Given the description of an element on the screen output the (x, y) to click on. 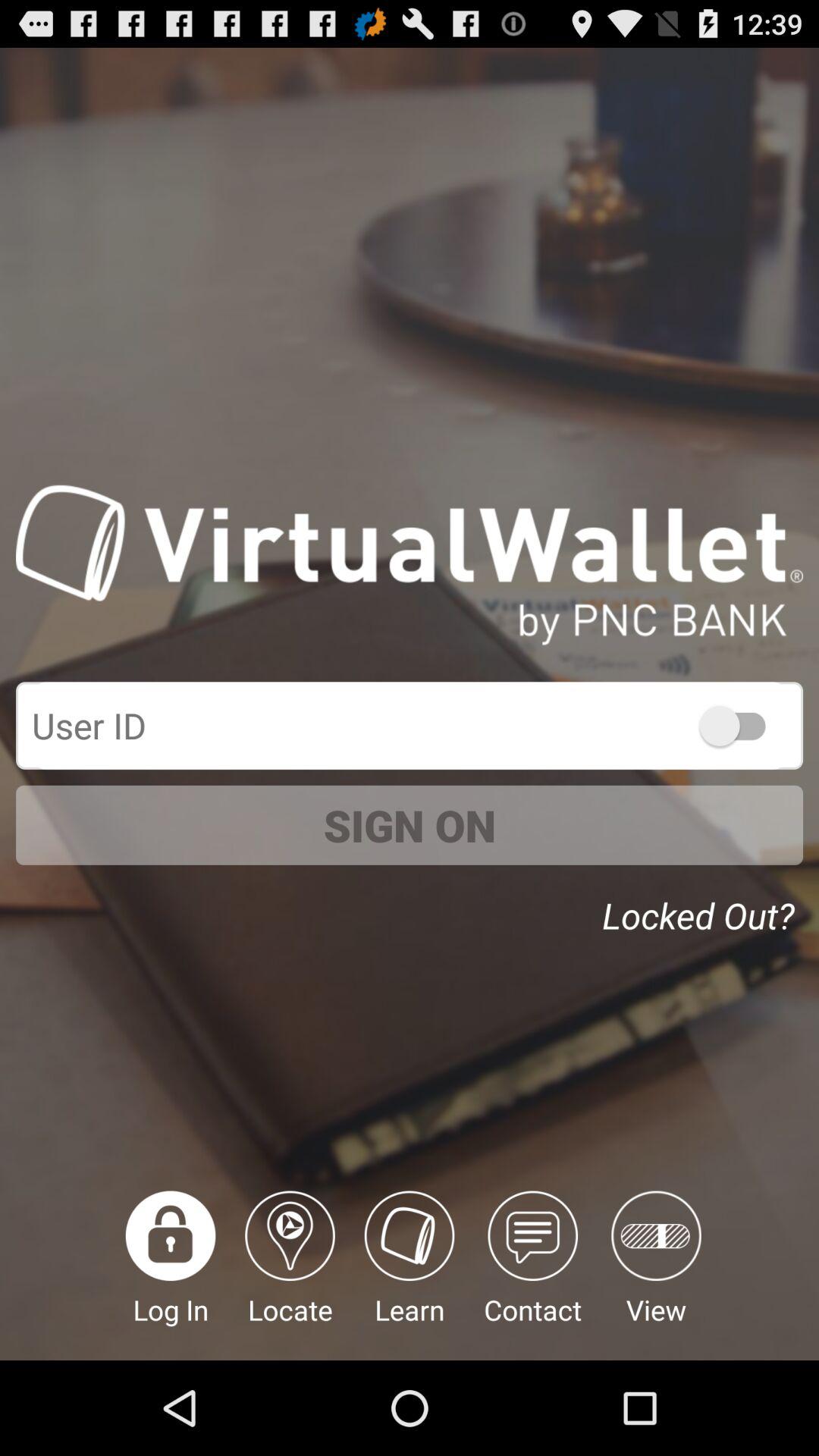
click the item next to the log in (289, 1275)
